Given the description of an element on the screen output the (x, y) to click on. 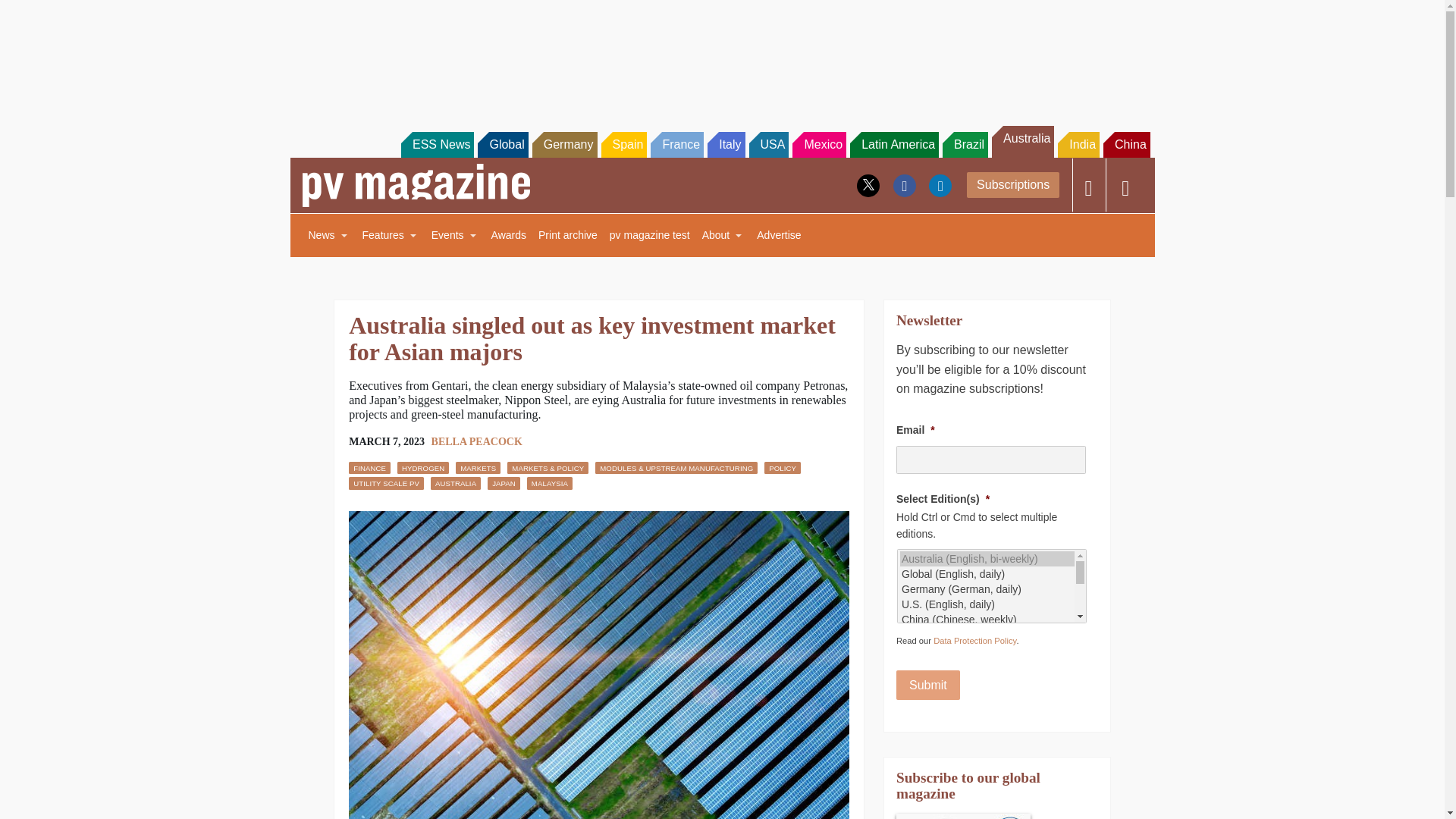
Submit (927, 685)
ESS News (437, 144)
Search (32, 15)
Italy (725, 144)
Posts by Bella Peacock (476, 441)
Germany (564, 144)
Mexico (818, 144)
Brazil (965, 144)
Spain (622, 144)
France (676, 144)
